Given the description of an element on the screen output the (x, y) to click on. 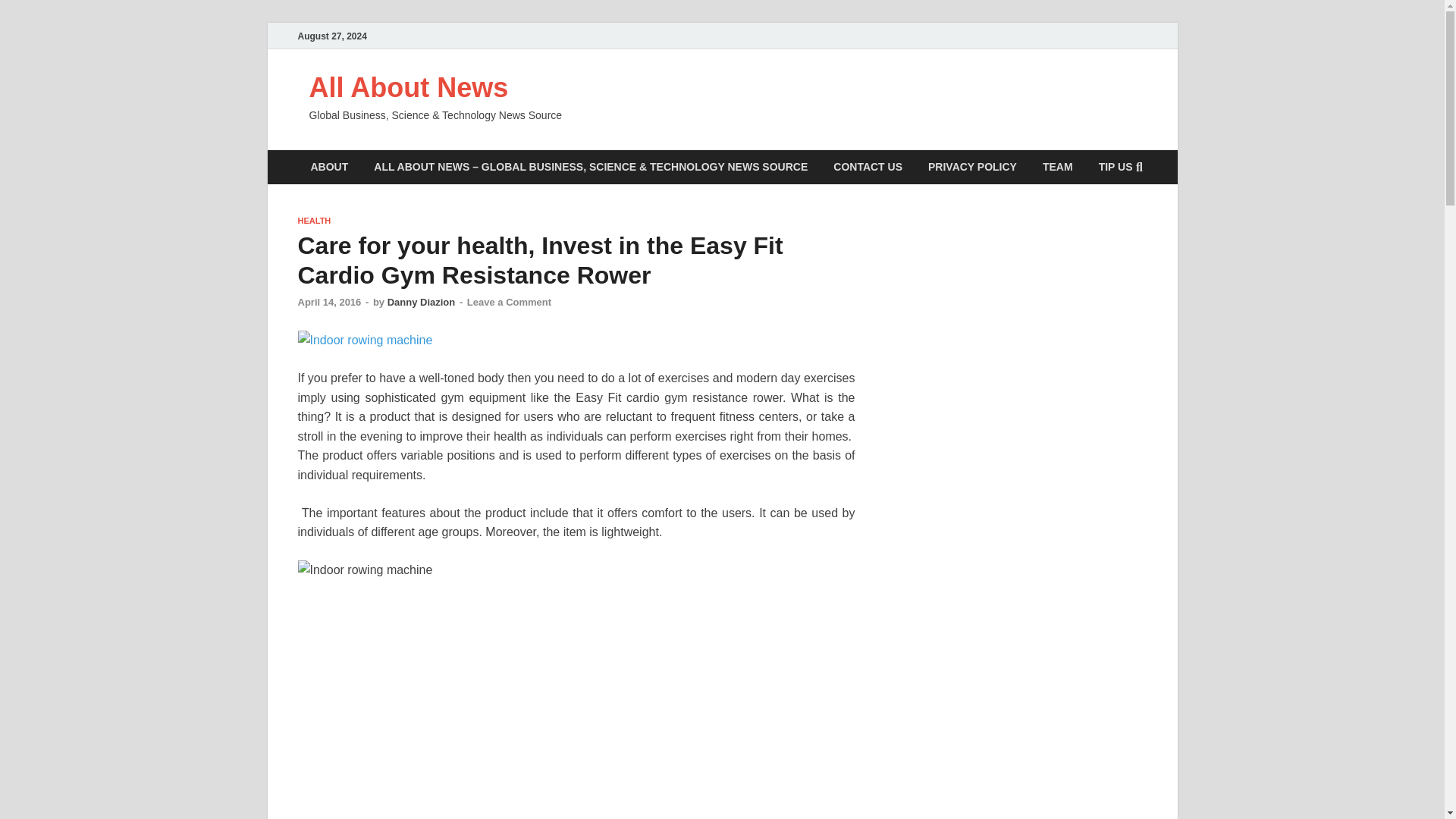
Danny Diazion (421, 301)
April 14, 2016 (329, 301)
Leave a Comment (509, 301)
TEAM (1057, 166)
PRIVACY POLICY (972, 166)
All About News (408, 87)
TIP US (1115, 166)
ABOUT (329, 166)
HEALTH (313, 220)
CONTACT US (868, 166)
